Given the description of an element on the screen output the (x, y) to click on. 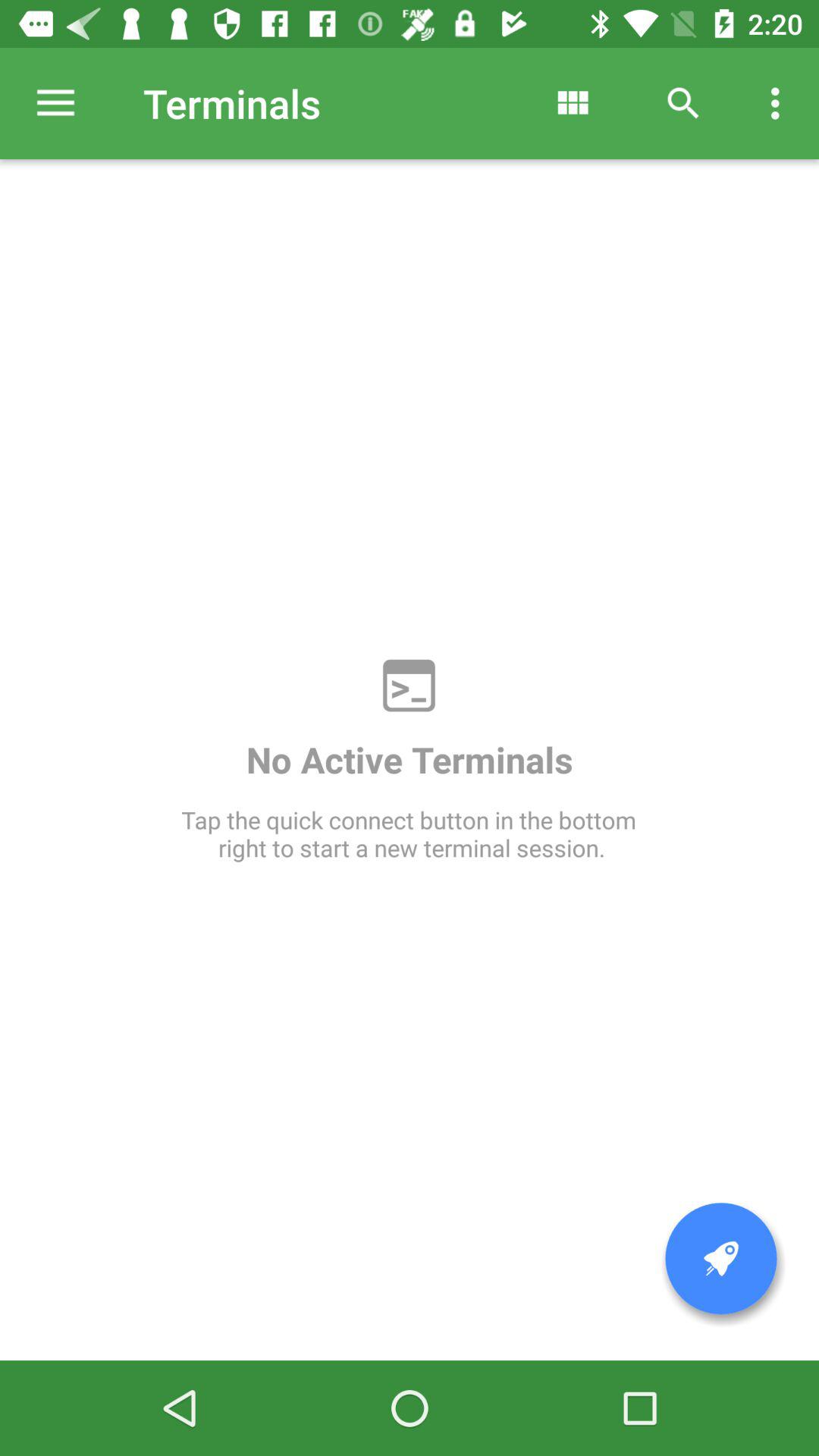
launch icon to the left of terminals item (55, 103)
